Given the description of an element on the screen output the (x, y) to click on. 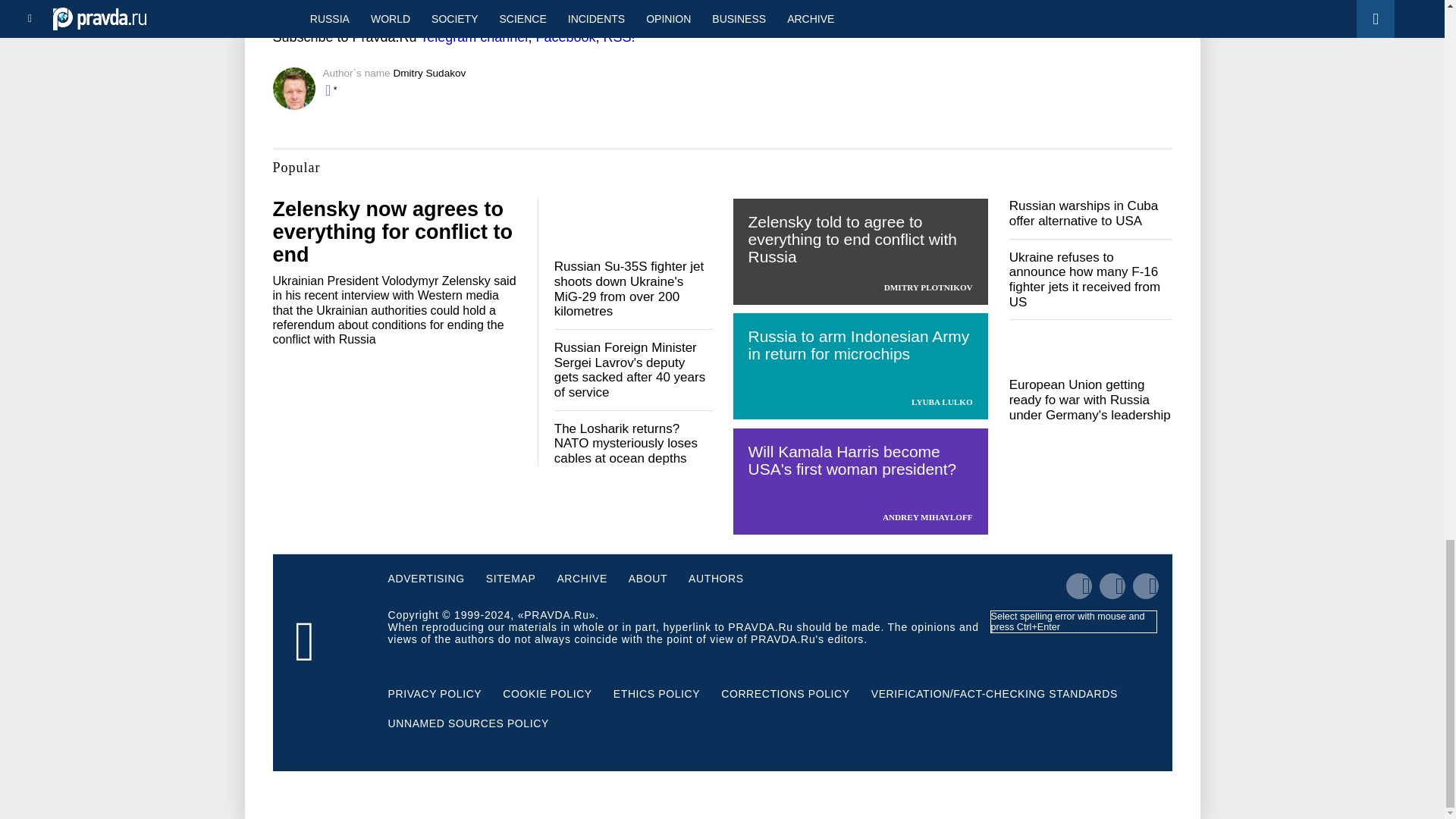
Facebook (565, 37)
Telegram channel (473, 37)
Dmitry Sudakov (429, 72)
RSS (616, 37)
